Given the description of an element on the screen output the (x, y) to click on. 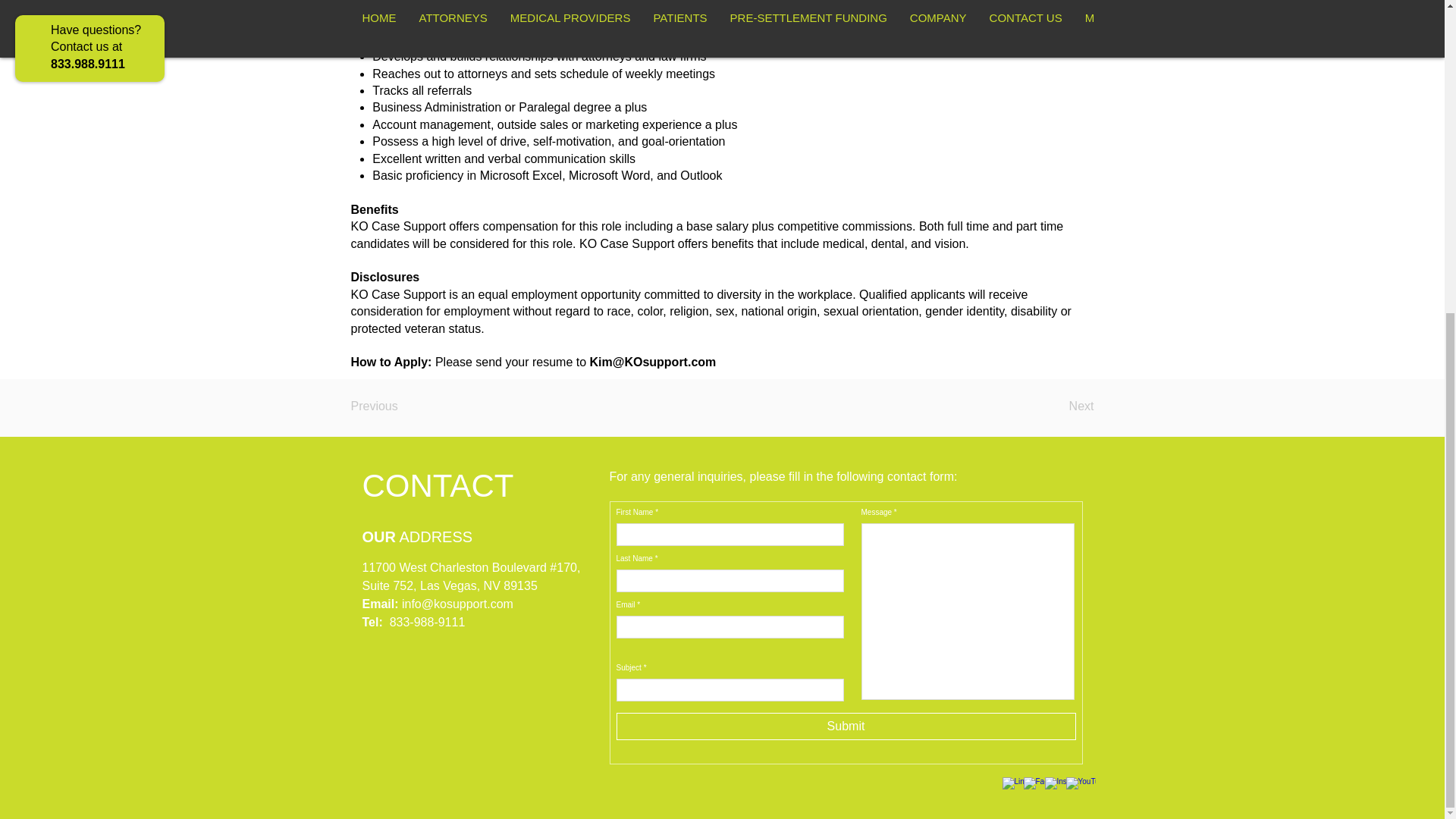
833-988-9111 (427, 621)
Previous (399, 406)
Next (1055, 406)
Submit (845, 726)
